Given the description of an element on the screen output the (x, y) to click on. 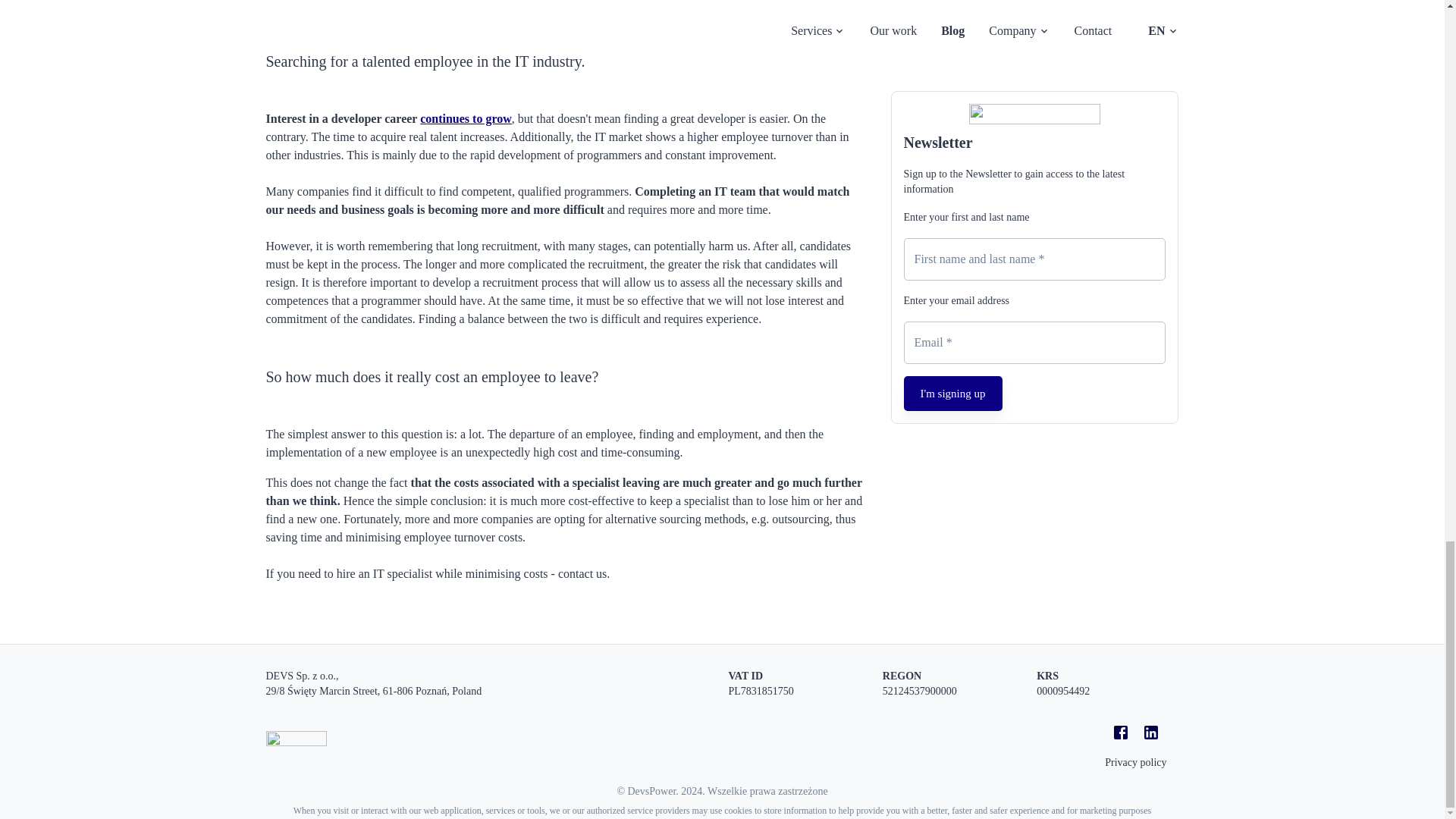
Privacy policy (1135, 762)
continues to grow (466, 118)
DEVSPOWER (295, 741)
